Given the description of an element on the screen output the (x, y) to click on. 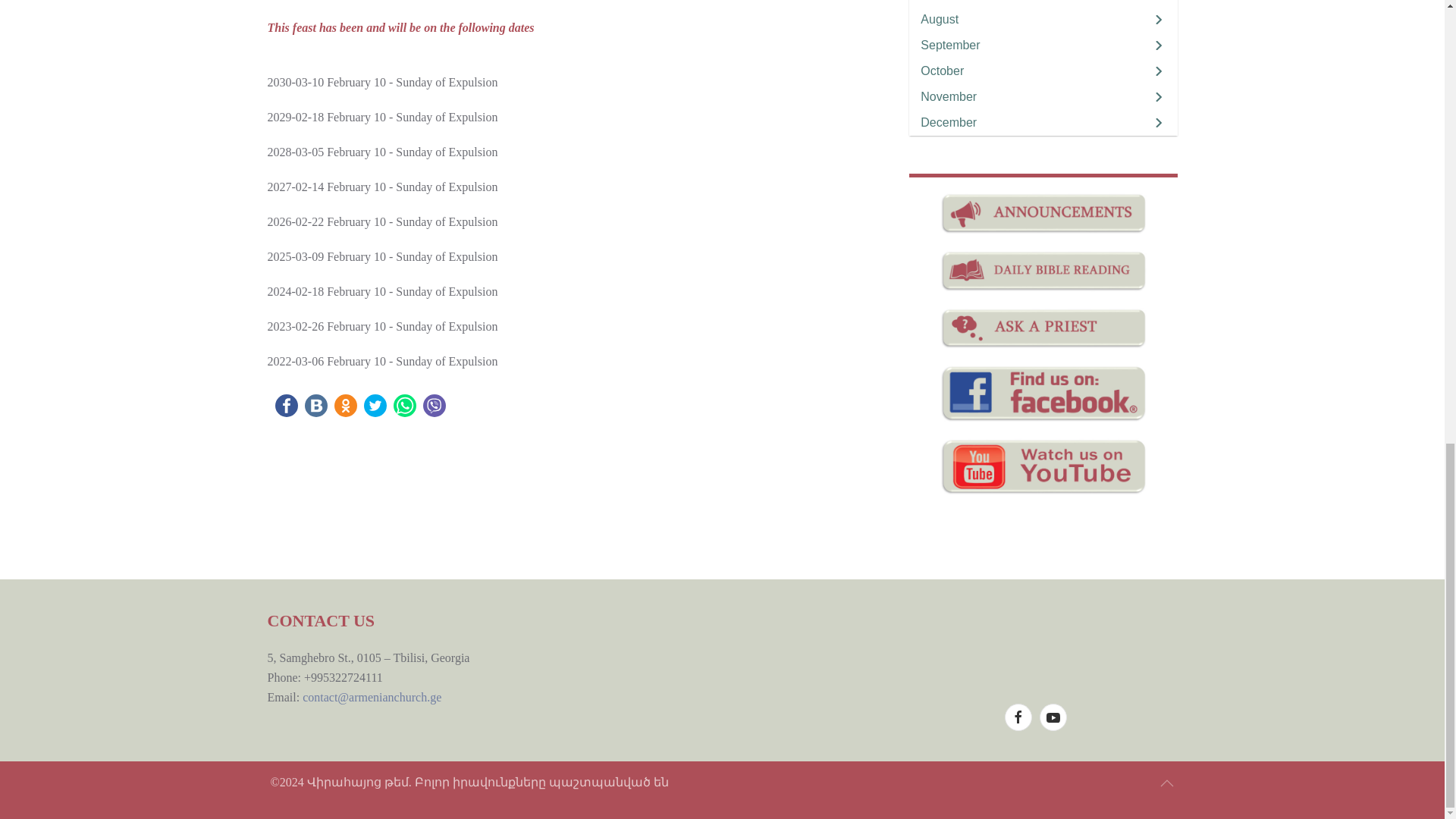
WhatsApp (403, 404)
Viber (434, 404)
Vkontakte (315, 404)
Twitter (375, 404)
Odnoklassniki (344, 404)
FaceBook (286, 404)
